Given the description of an element on the screen output the (x, y) to click on. 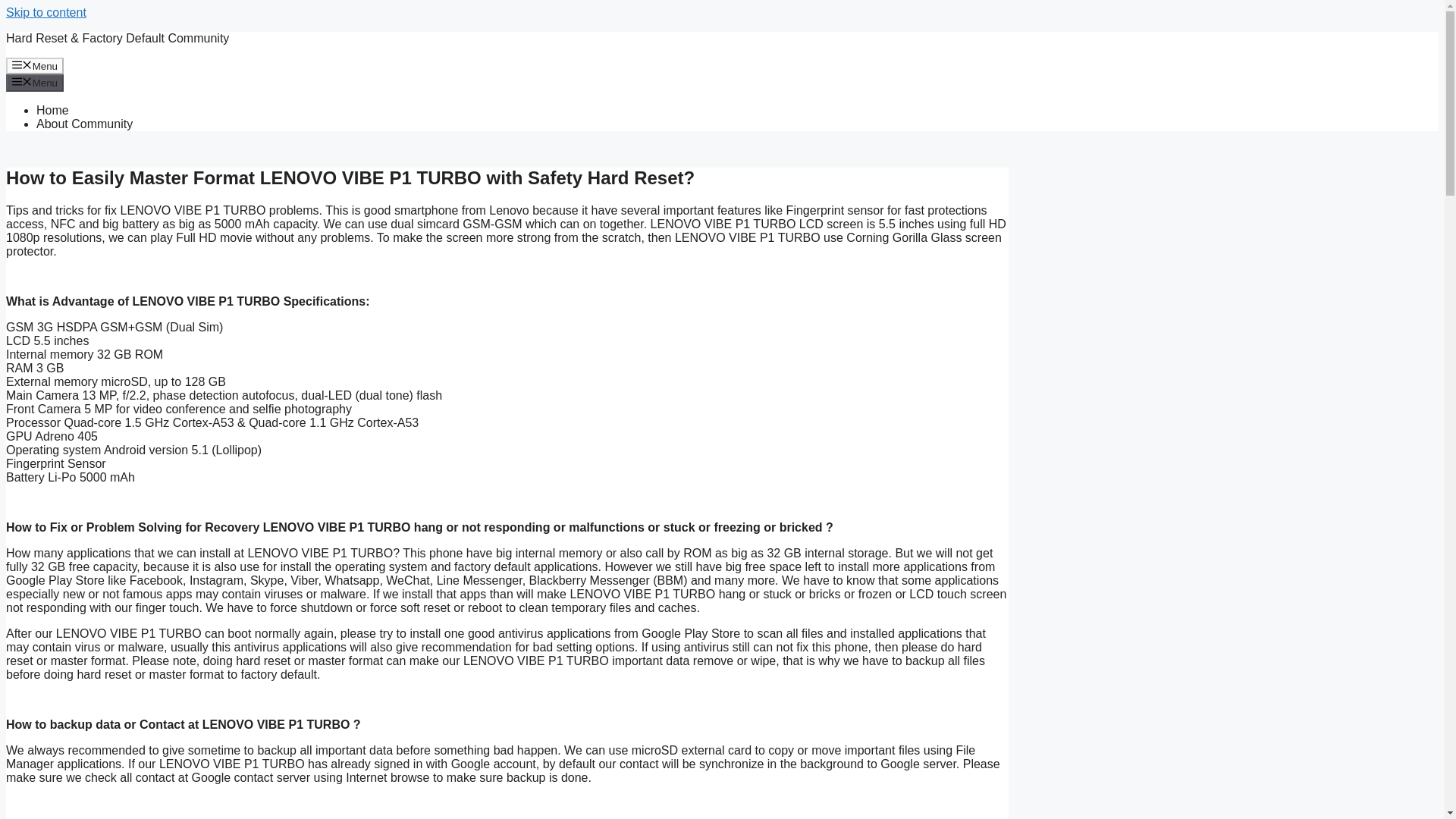
Menu (34, 82)
Home (52, 110)
Menu (34, 65)
Skip to content (45, 11)
About Community (84, 123)
Skip to content (45, 11)
